Given the description of an element on the screen output the (x, y) to click on. 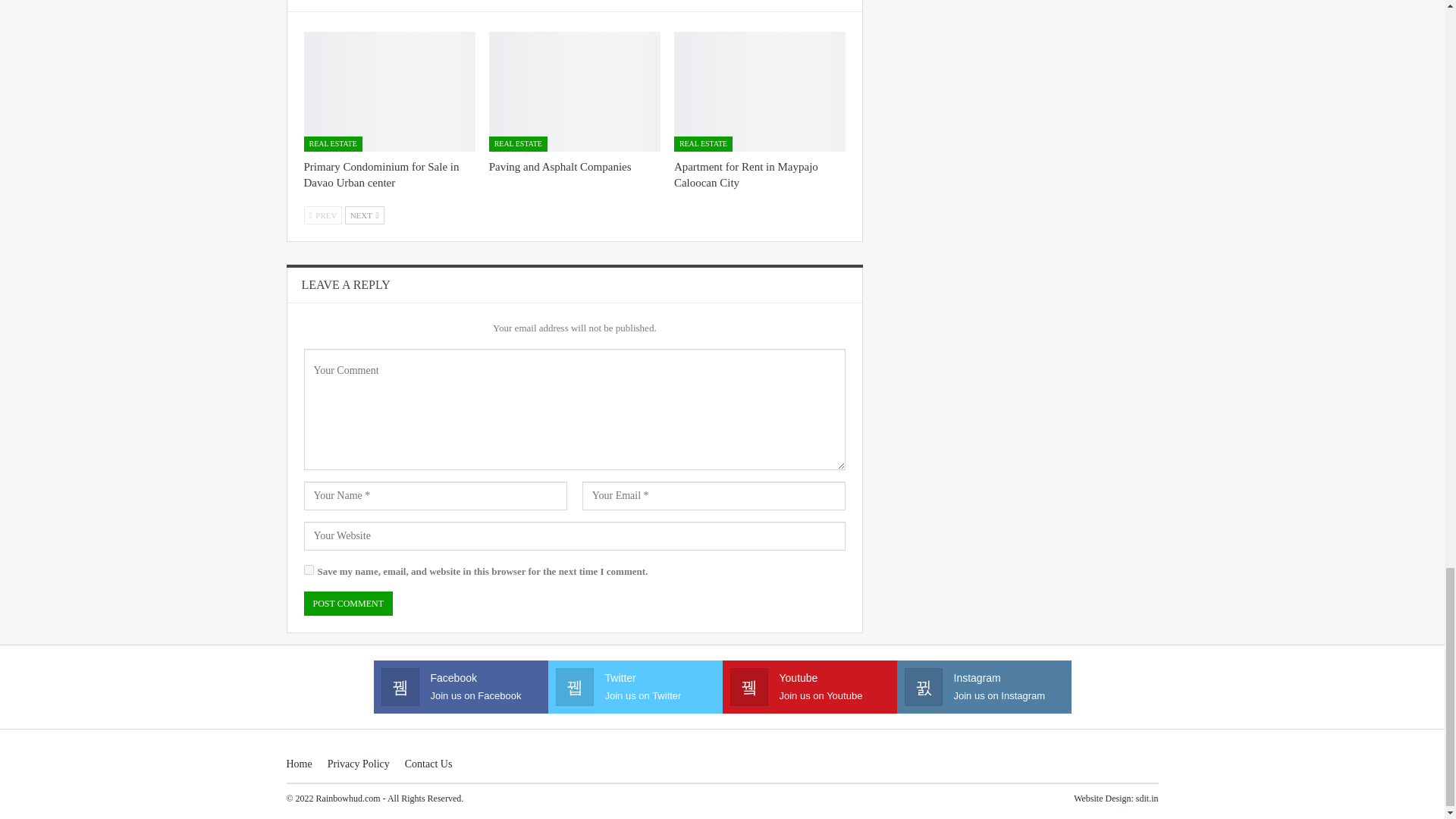
Apartment for Rent in Maypajo Caloocan City (746, 174)
Apartment for Rent in Maypajo Caloocan City (759, 91)
yes (307, 569)
Paving and Asphalt Companies (560, 166)
Primary Condominium for Sale in Davao Urban center (388, 91)
Primary Condominium for Sale in Davao Urban center (380, 174)
Post Comment (346, 603)
Paving and Asphalt Companies (575, 91)
